Given the description of an element on the screen output the (x, y) to click on. 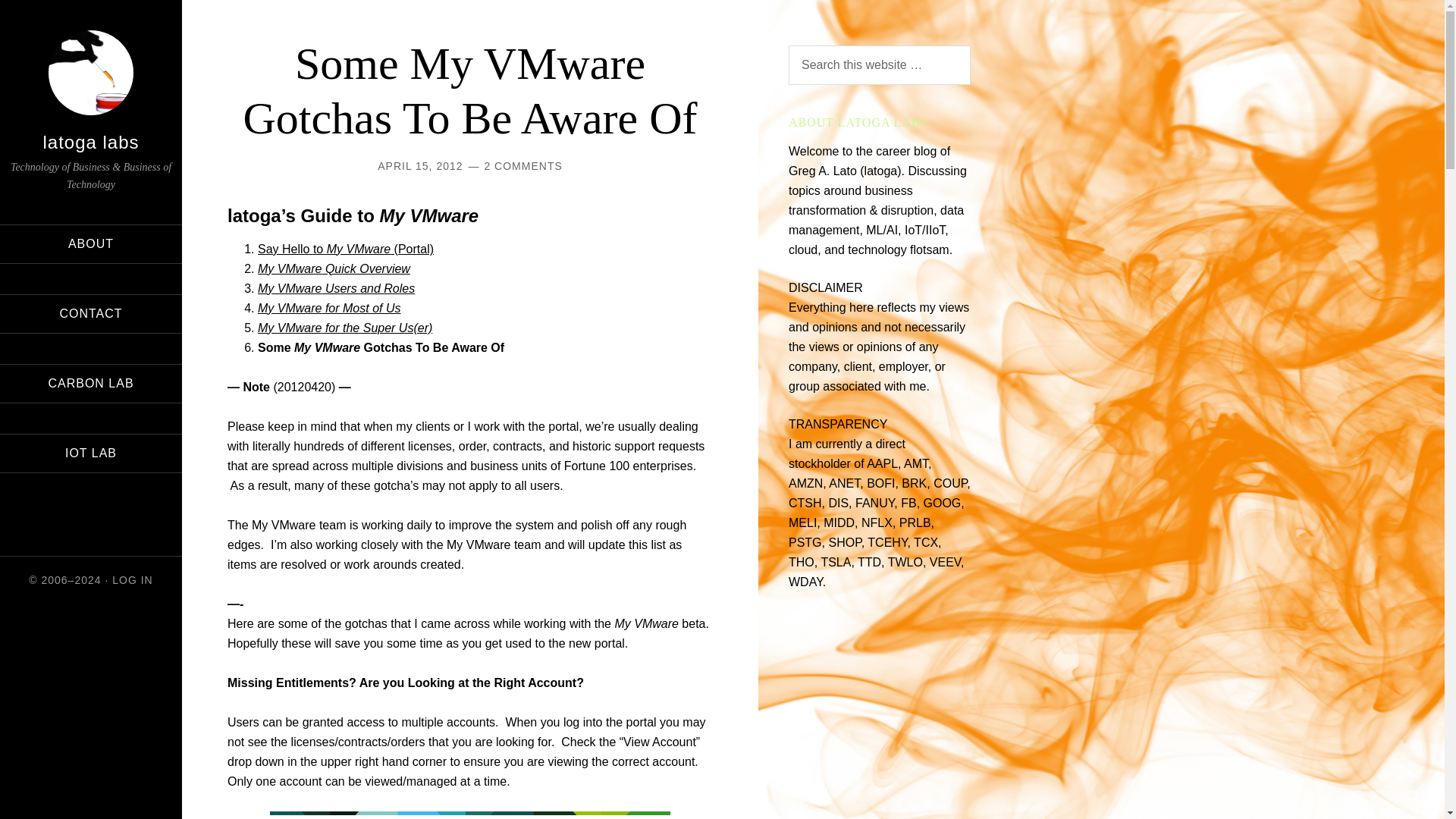
My VMware for Most of Us (328, 308)
LOG IN (132, 579)
2 COMMENTS (522, 165)
My VMware Users and Roles (335, 287)
MyVMW-screen-Account-Selection (469, 815)
My VMware Quick Overview (333, 268)
latoga labs (90, 141)
CONTACT (91, 313)
IOT LAB (91, 452)
CARBON LAB (91, 382)
ABOUT (91, 243)
